Given the description of an element on the screen output the (x, y) to click on. 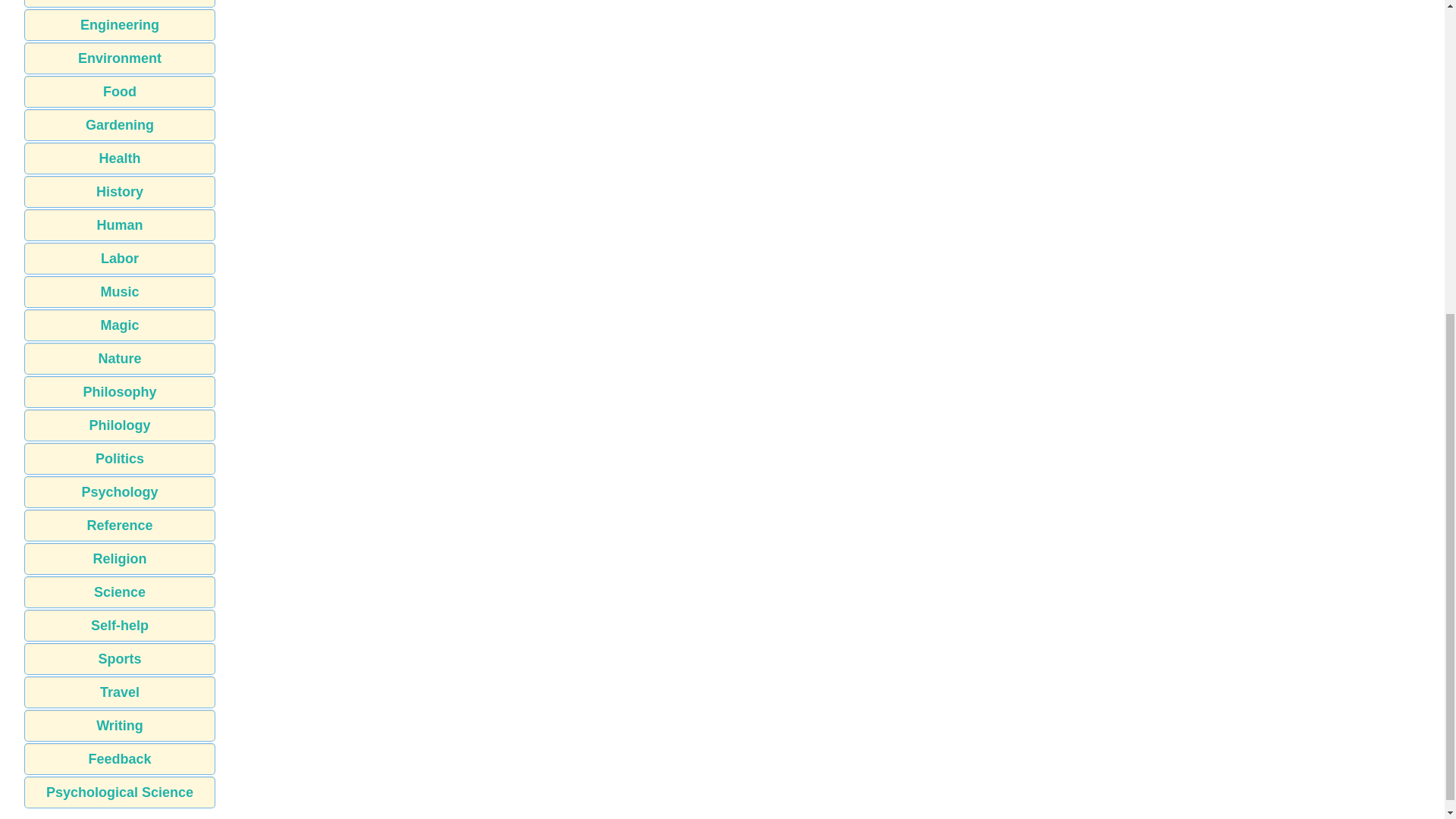
Philology (119, 425)
Environment (119, 58)
Engineering (119, 24)
Magic (119, 325)
Education (119, 3)
Politics (119, 459)
Gardening (119, 124)
Food (119, 91)
History (119, 192)
Psychology (119, 491)
Writing (119, 726)
Sports (119, 658)
Music (119, 291)
Science (119, 592)
Labor (119, 258)
